Given the description of an element on the screen output the (x, y) to click on. 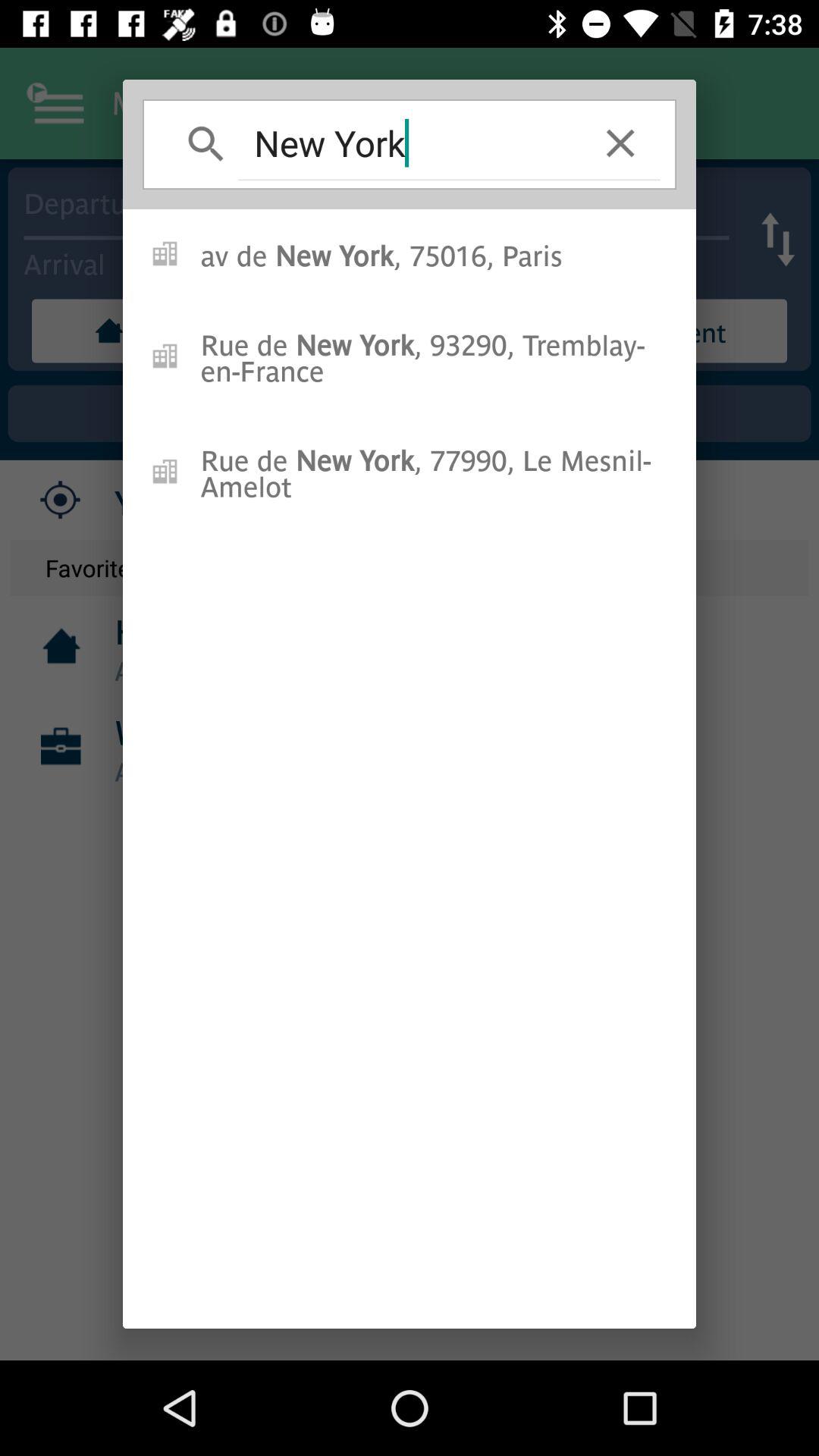
tap the icon above av de new icon (620, 143)
